Given the description of an element on the screen output the (x, y) to click on. 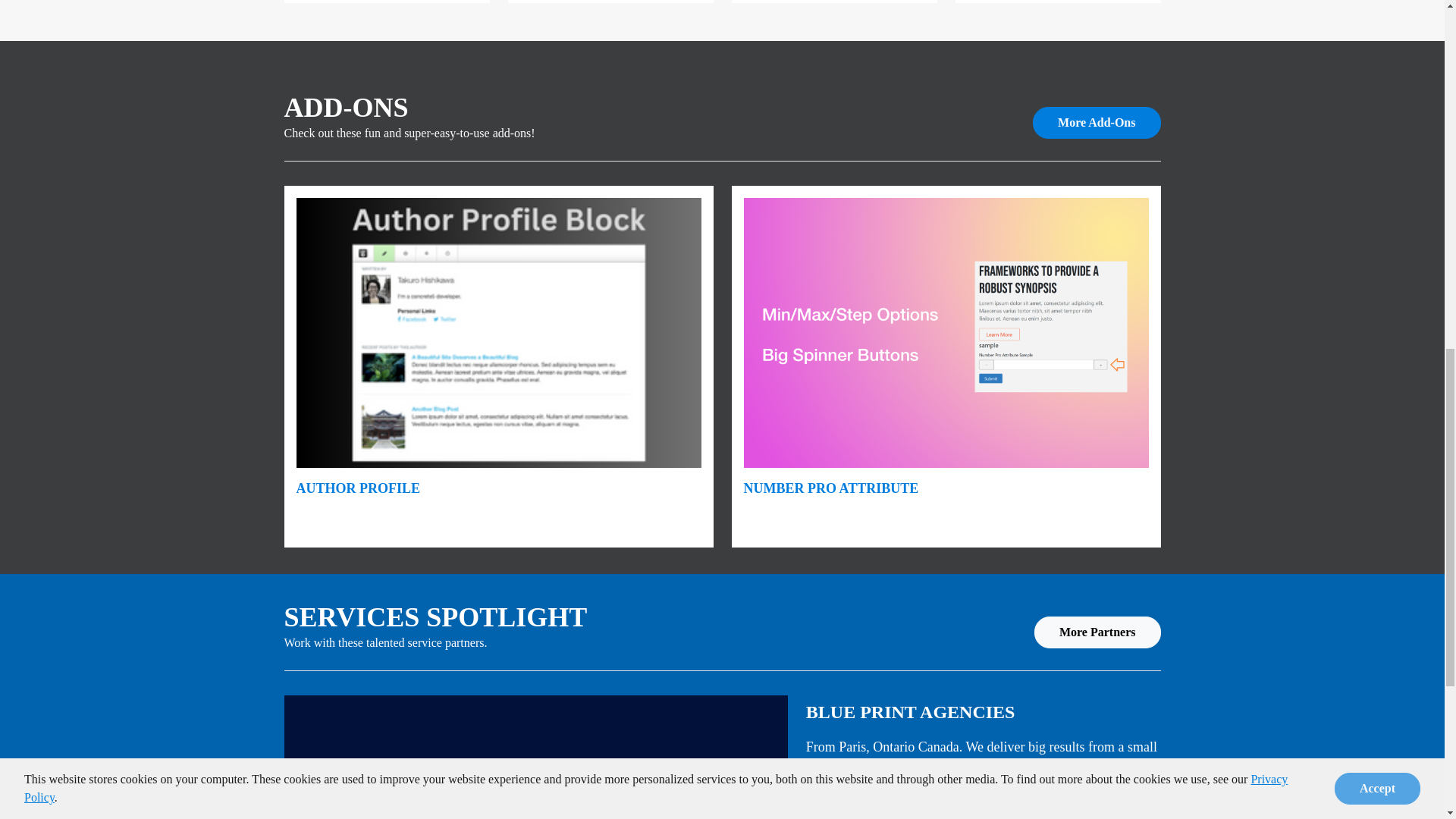
BLUE PRINT AGENCIES (910, 711)
More Add-Ons (1096, 122)
More Partners (1096, 632)
AUTHOR PROFILE (357, 488)
NUMBER PRO ATTRIBUTE (830, 488)
